Given the description of an element on the screen output the (x, y) to click on. 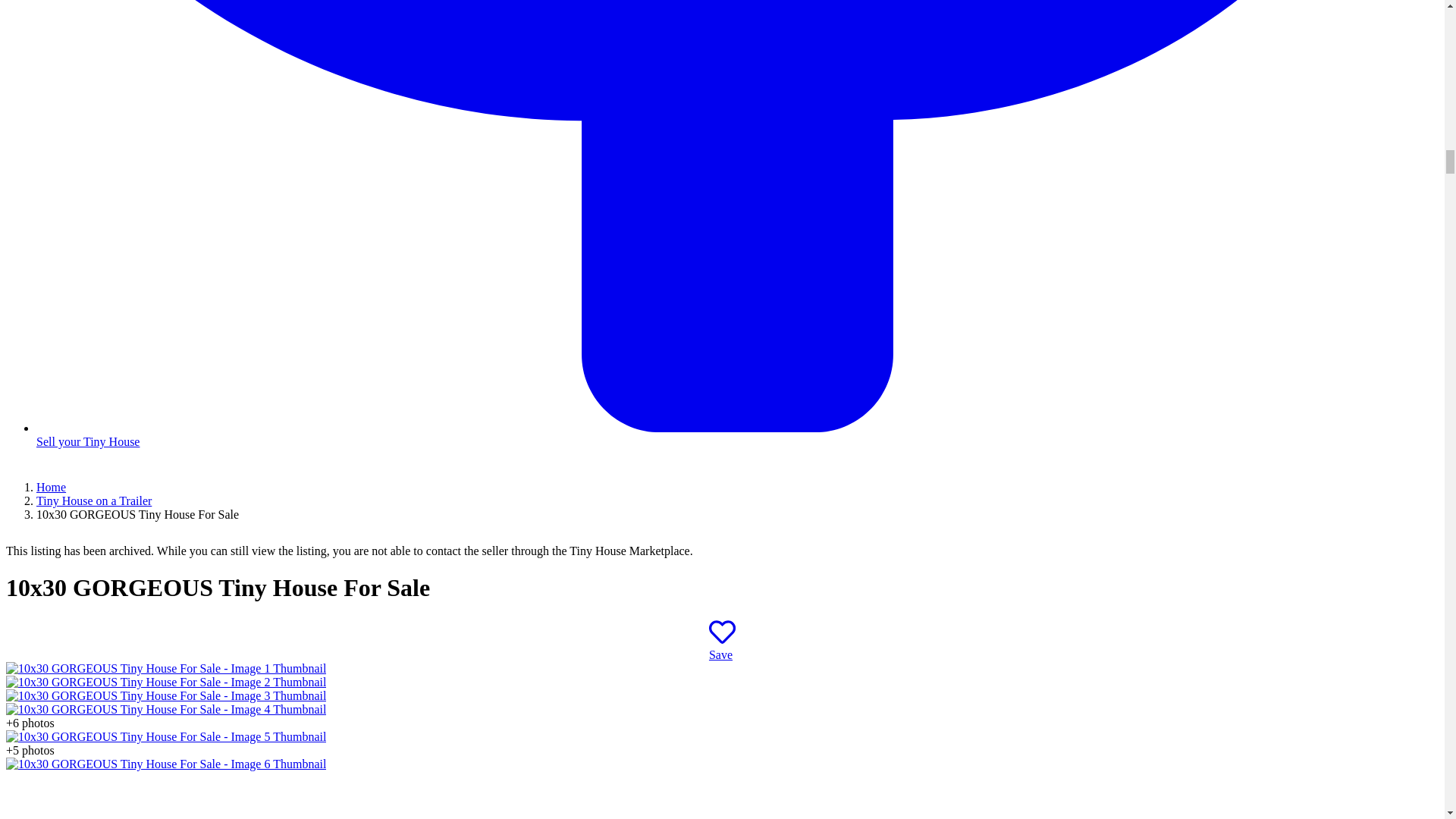
Save (722, 647)
Home (50, 486)
10x30 GORGEOUS Tiny House For Sale (165, 708)
Tiny House on a Trailer (93, 500)
10x30 GORGEOUS Tiny House For Sale (165, 667)
10x30 GORGEOUS Tiny House For Sale (165, 695)
10x30 GORGEOUS Tiny House For Sale (165, 736)
10x30 GORGEOUS Tiny House For Sale (165, 681)
10x30 GORGEOUS Tiny House For Sale (165, 763)
